Given the description of an element on the screen output the (x, y) to click on. 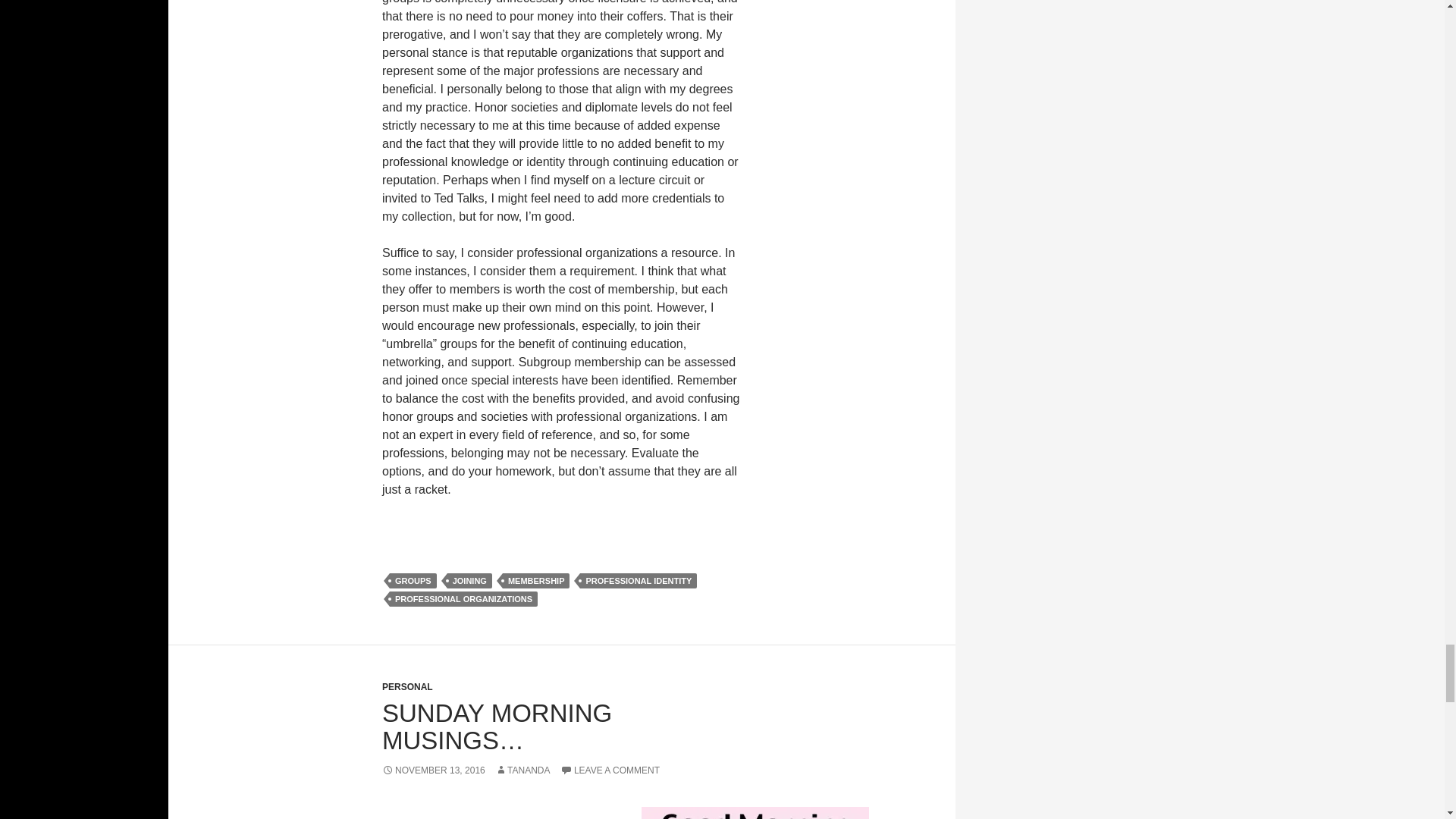
GROUPS (413, 580)
JOINING (469, 580)
MEMBERSHIP (536, 580)
